Given the description of an element on the screen output the (x, y) to click on. 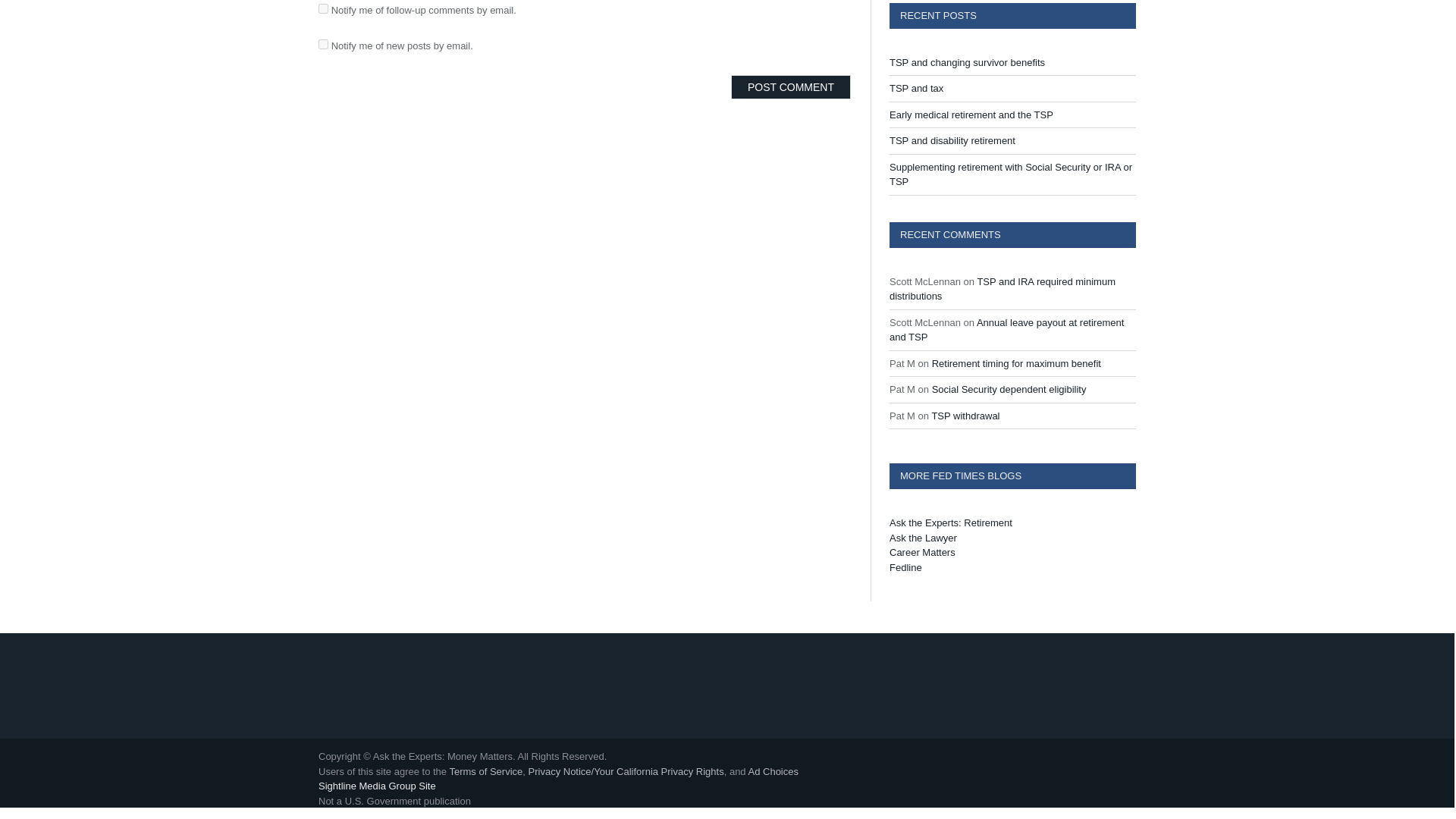
subscribe (323, 8)
Post Comment (790, 87)
subscribe (323, 44)
